Given the description of an element on the screen output the (x, y) to click on. 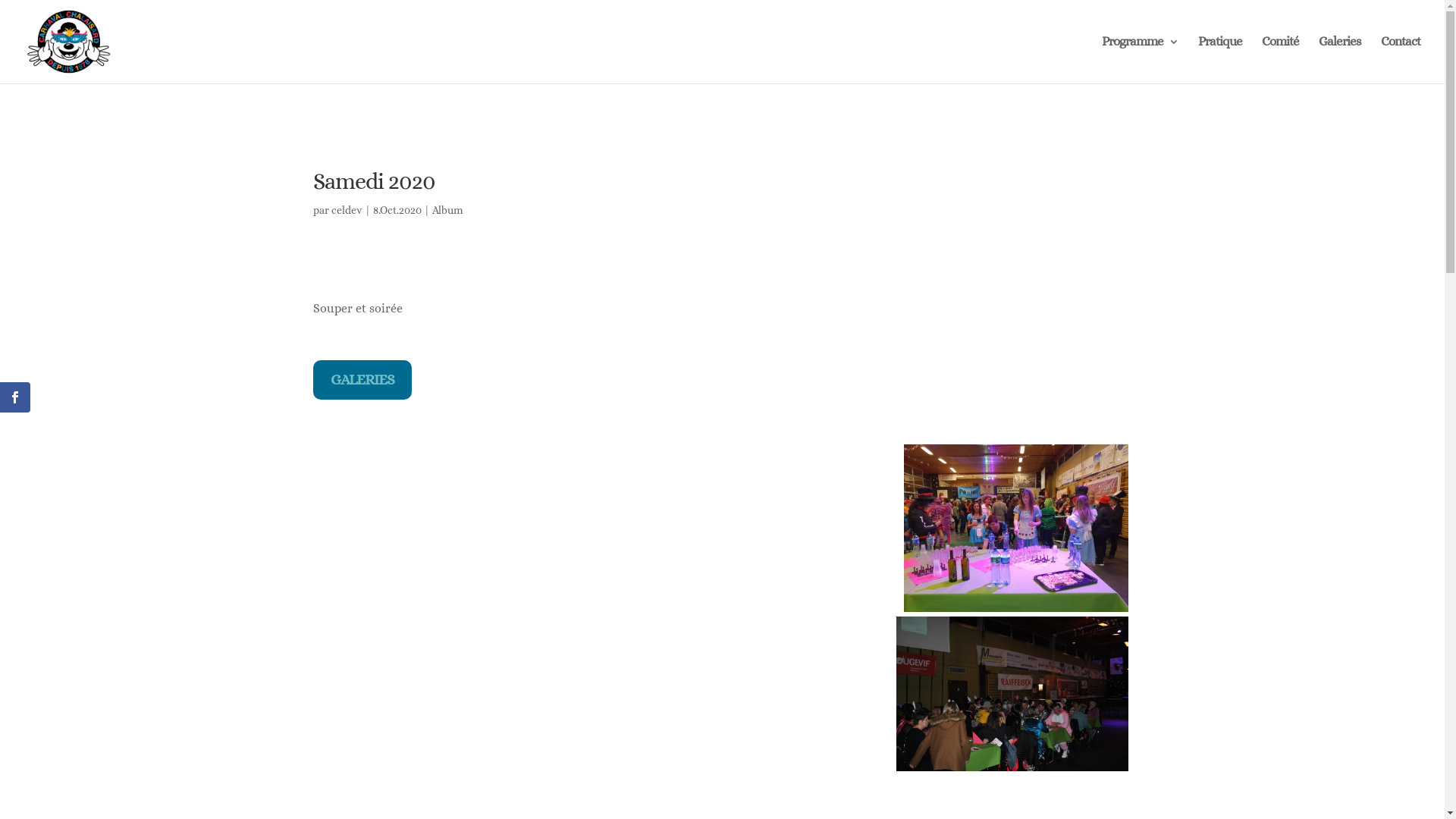
celdev Element type: text (345, 209)
Album Element type: text (447, 209)
Galeries Element type: text (1339, 59)
Programme Element type: text (1139, 59)
Pratique Element type: text (1220, 59)
GALERIES Element type: text (361, 379)
20200222_184510 Element type: hover (1015, 527)
Contact Element type: text (1400, 59)
DSC_0221 Element type: hover (1012, 693)
